Given the description of an element on the screen output the (x, y) to click on. 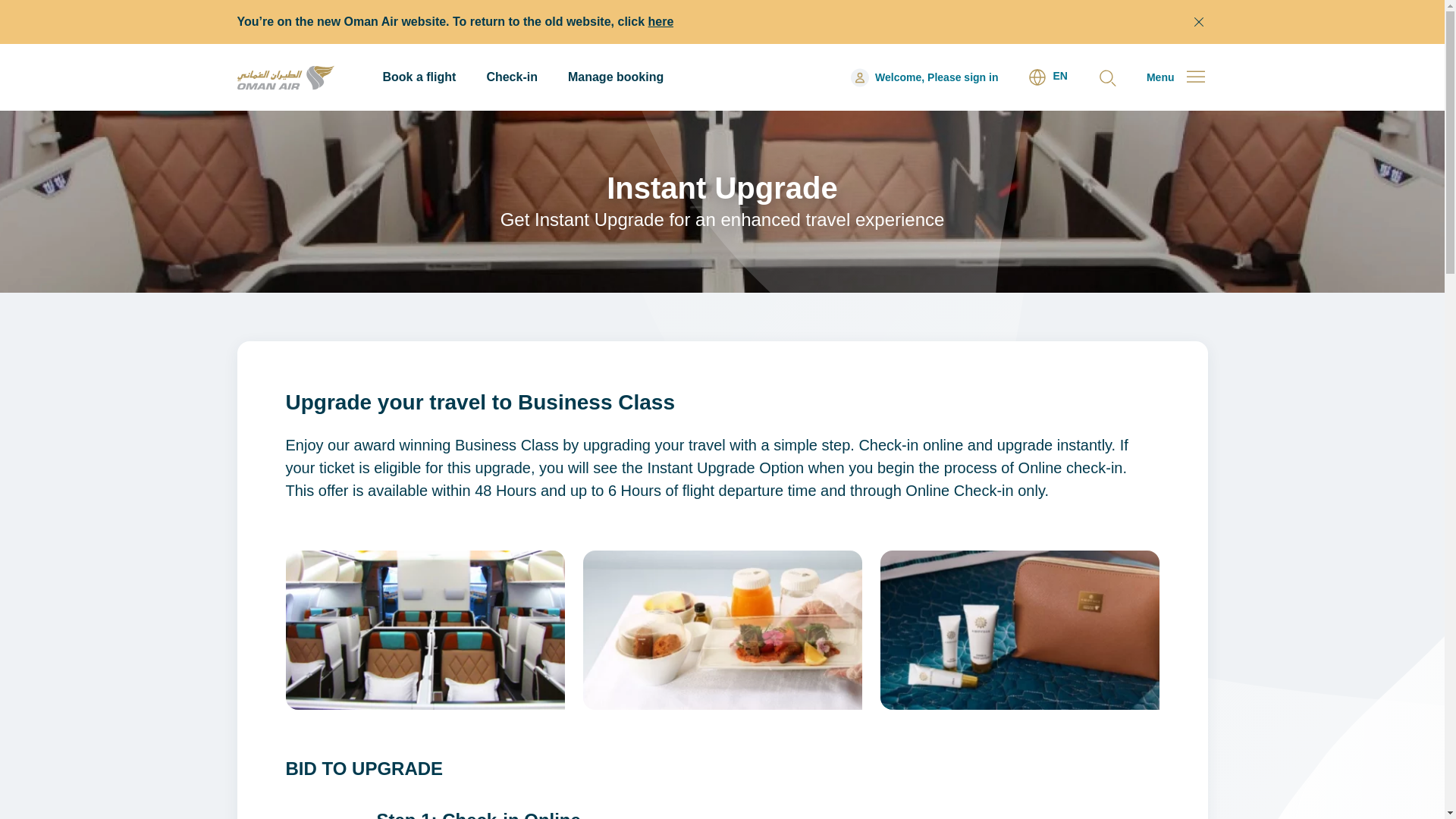
International (1047, 76)
here (660, 21)
EN (1047, 76)
Home (248, 87)
Welcome, Please sign in (923, 76)
